Given the description of an element on the screen output the (x, y) to click on. 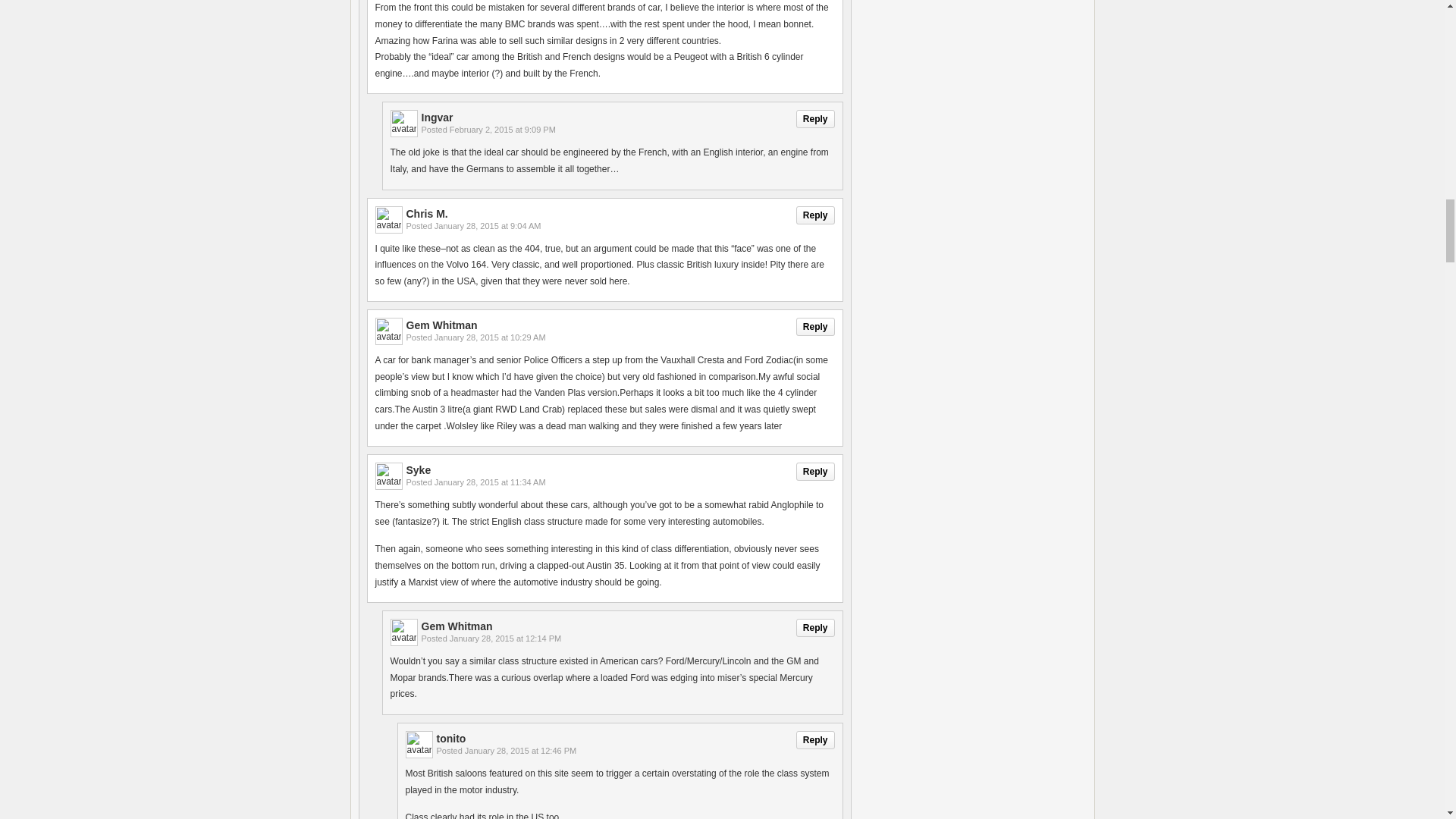
2015-01-28T12:14:41-08:00 (504, 637)
2015-02-02T21:09:29-08:00 (502, 129)
2015-01-28T09:04:29-08:00 (487, 225)
2015-01-28T10:29:11-08:00 (489, 337)
2015-01-28T12:46:29-08:00 (520, 750)
2015-01-28T11:34:38-08:00 (489, 481)
